Given the description of an element on the screen output the (x, y) to click on. 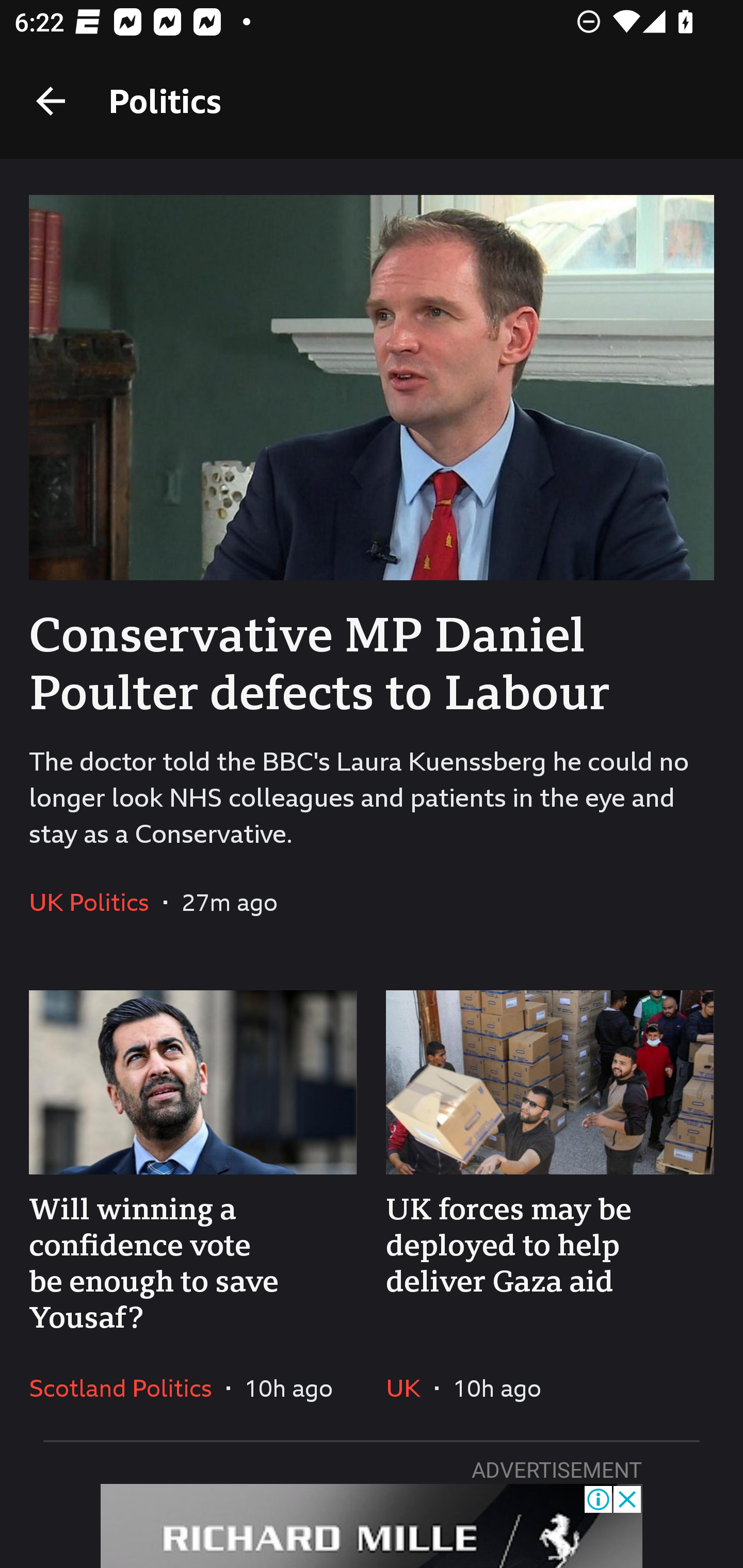
Back (50, 101)
UK Politics In the section UK Politics (95, 901)
Scotland Politics In the section Scotland Politics (127, 1387)
UK In the section UK (409, 1387)
